Given the description of an element on the screen output the (x, y) to click on. 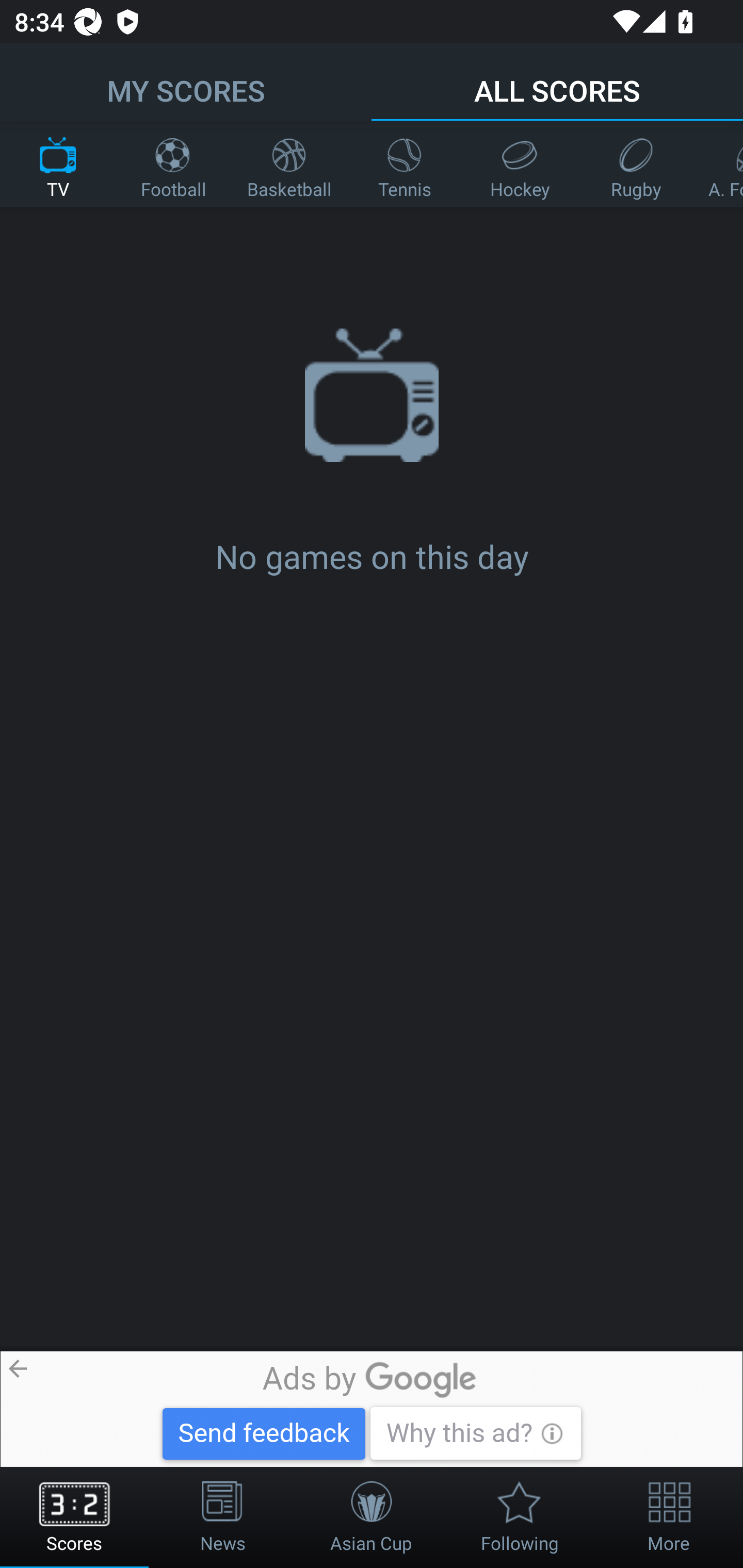
MY SCORES (185, 81)
ALL SCORES (557, 81)
TV (57, 163)
Football (173, 163)
Basketball (288, 163)
Tennis (404, 163)
Hockey (520, 163)
Rugby (635, 163)
超瘋狂預購 48小時 Pitanium MOKO 超瘋狂預購 48小時 Pitanium MOKO (379, 1409)
News (222, 1517)
Asian Cup (371, 1517)
Following (519, 1517)
More (668, 1517)
